Given the description of an element on the screen output the (x, y) to click on. 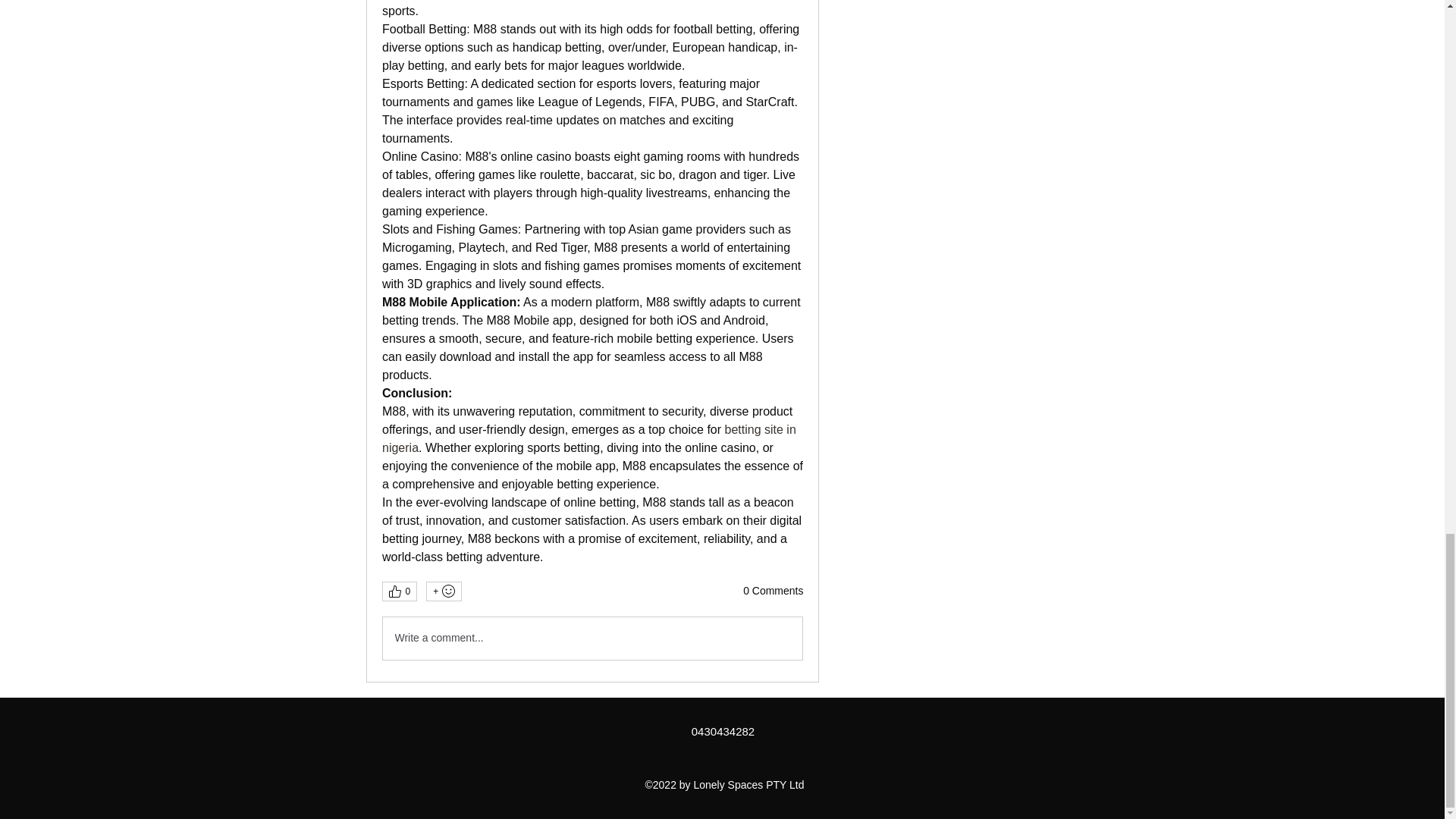
betting site in nigeria (590, 438)
0 Comments (772, 590)
Write a comment... (591, 638)
